Given the description of an element on the screen output the (x, y) to click on. 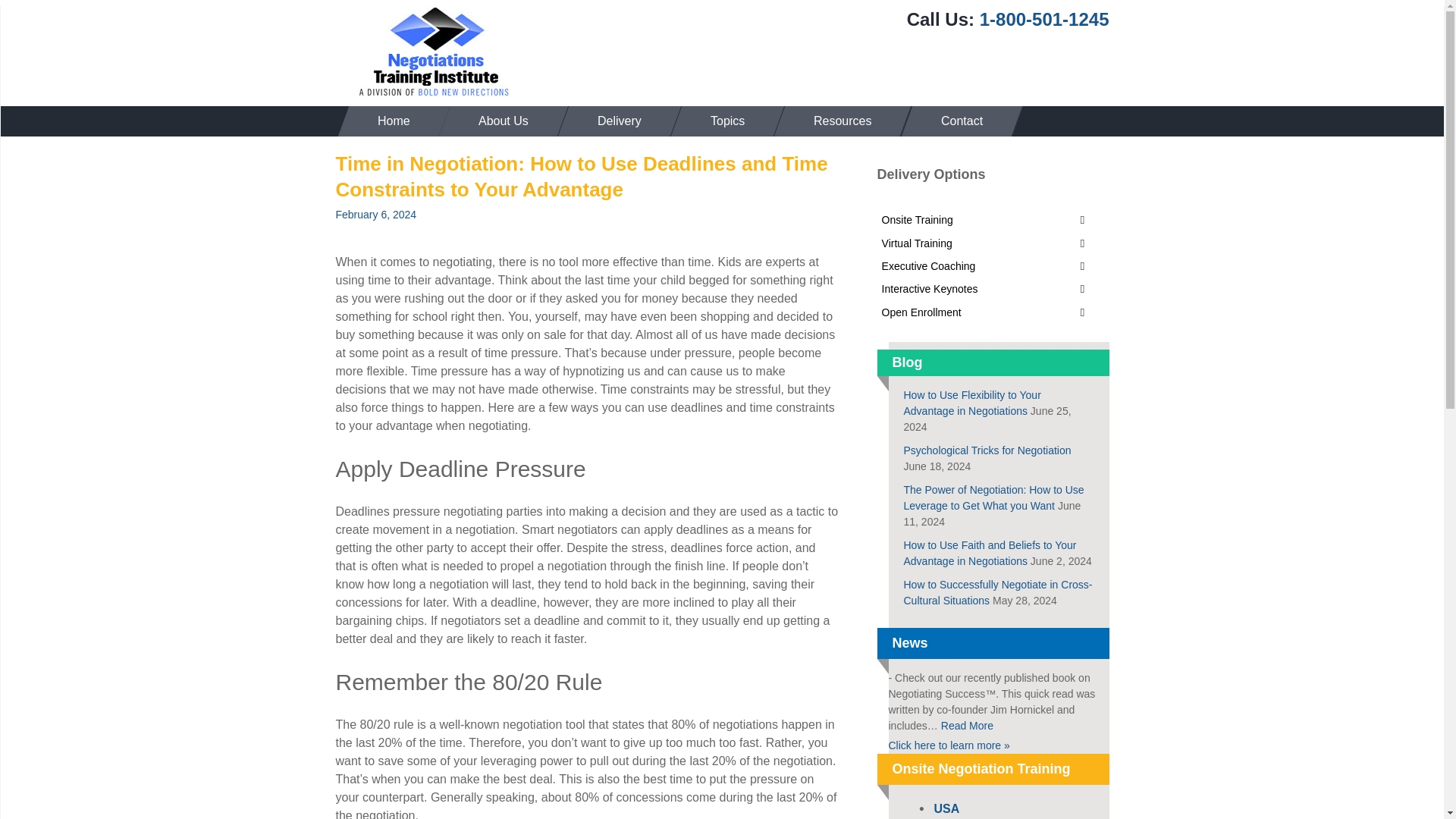
February 6, 2024 (375, 214)
1-800-501-1245 (1044, 19)
About Us (498, 121)
Negotiations Training Institute (433, 51)
Resources (836, 121)
About Us (498, 121)
Home (387, 121)
1-800-501-1245 (1044, 19)
Home (387, 121)
Topics (722, 121)
Negotiations Training Institute (434, 51)
Delivery (613, 121)
Delivery (613, 121)
